Given the description of an element on the screen output the (x, y) to click on. 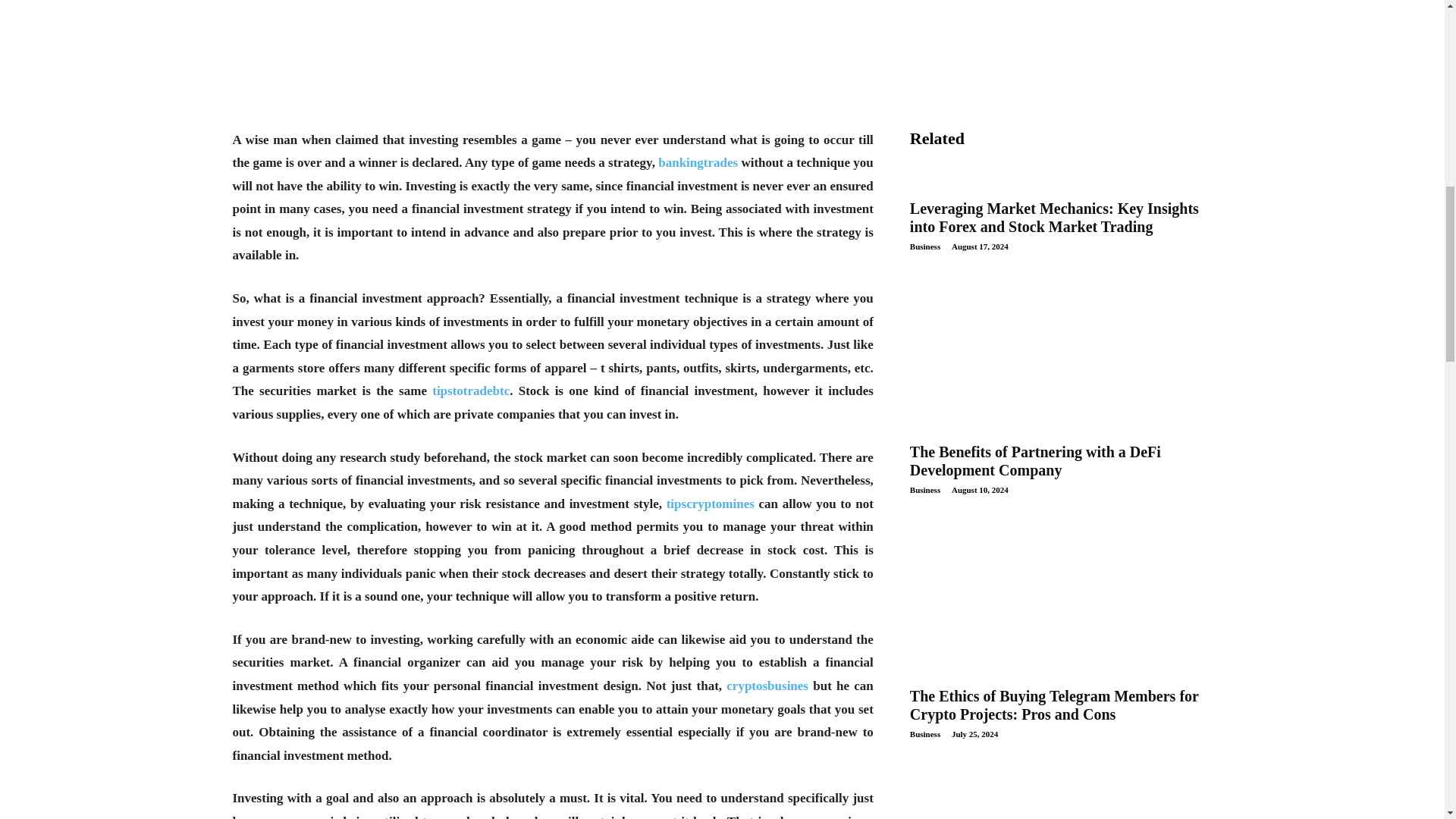
bankingtrades (698, 162)
The Benefits of Partnering with a DeFi Development Company (1035, 460)
The Benefits of Partnering with a DeFi Development Company (1061, 571)
Business (925, 245)
tipscryptomines (710, 503)
